Given the description of an element on the screen output the (x, y) to click on. 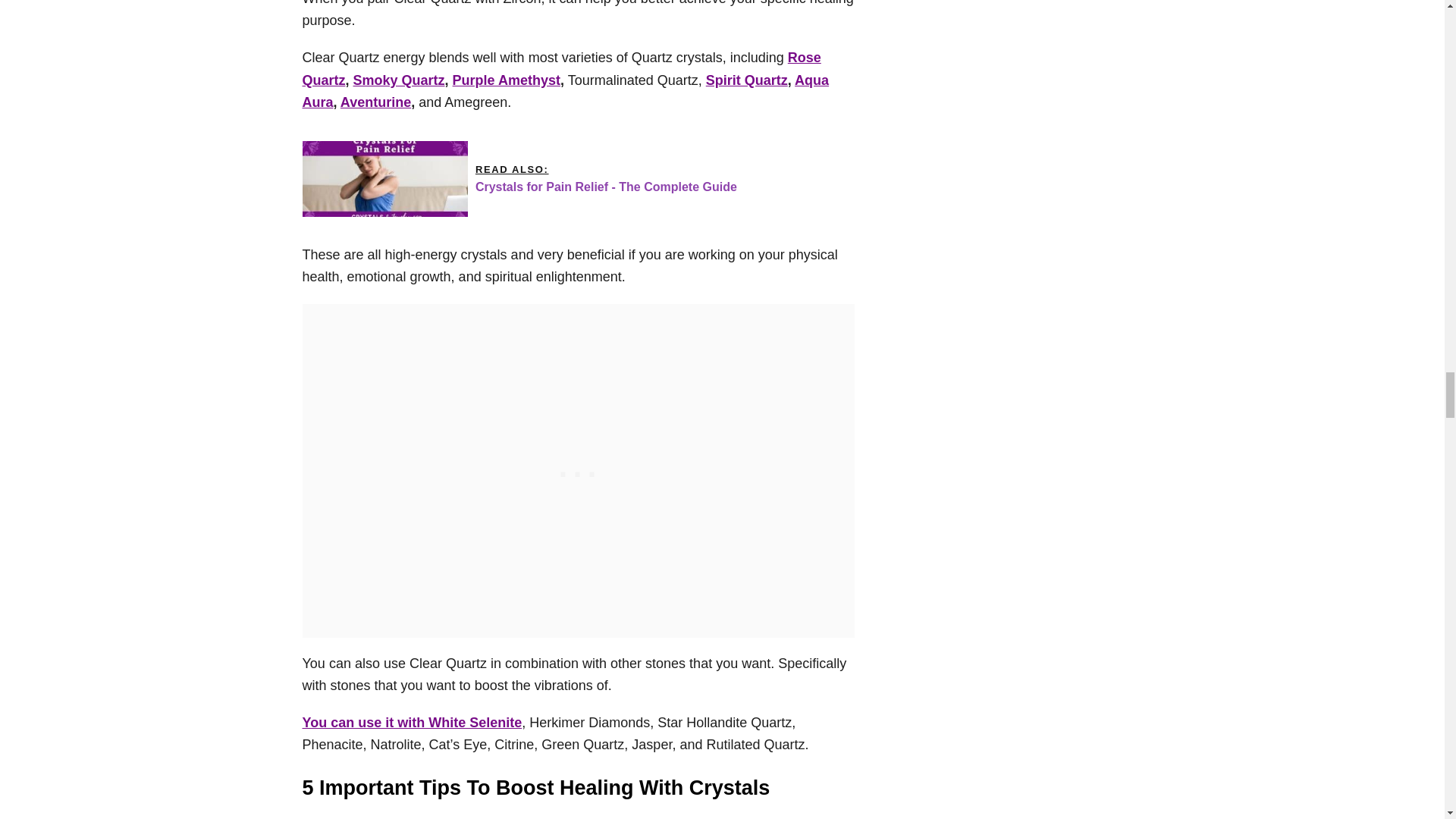
Aventurine (375, 102)
You can use it with White Selenite (411, 722)
Spirit Quartz (746, 79)
Aqua Aura (564, 90)
Rose Quartz (561, 67)
Smoky Quartz (399, 79)
Purple Amethyst (506, 79)
